Given the description of an element on the screen output the (x, y) to click on. 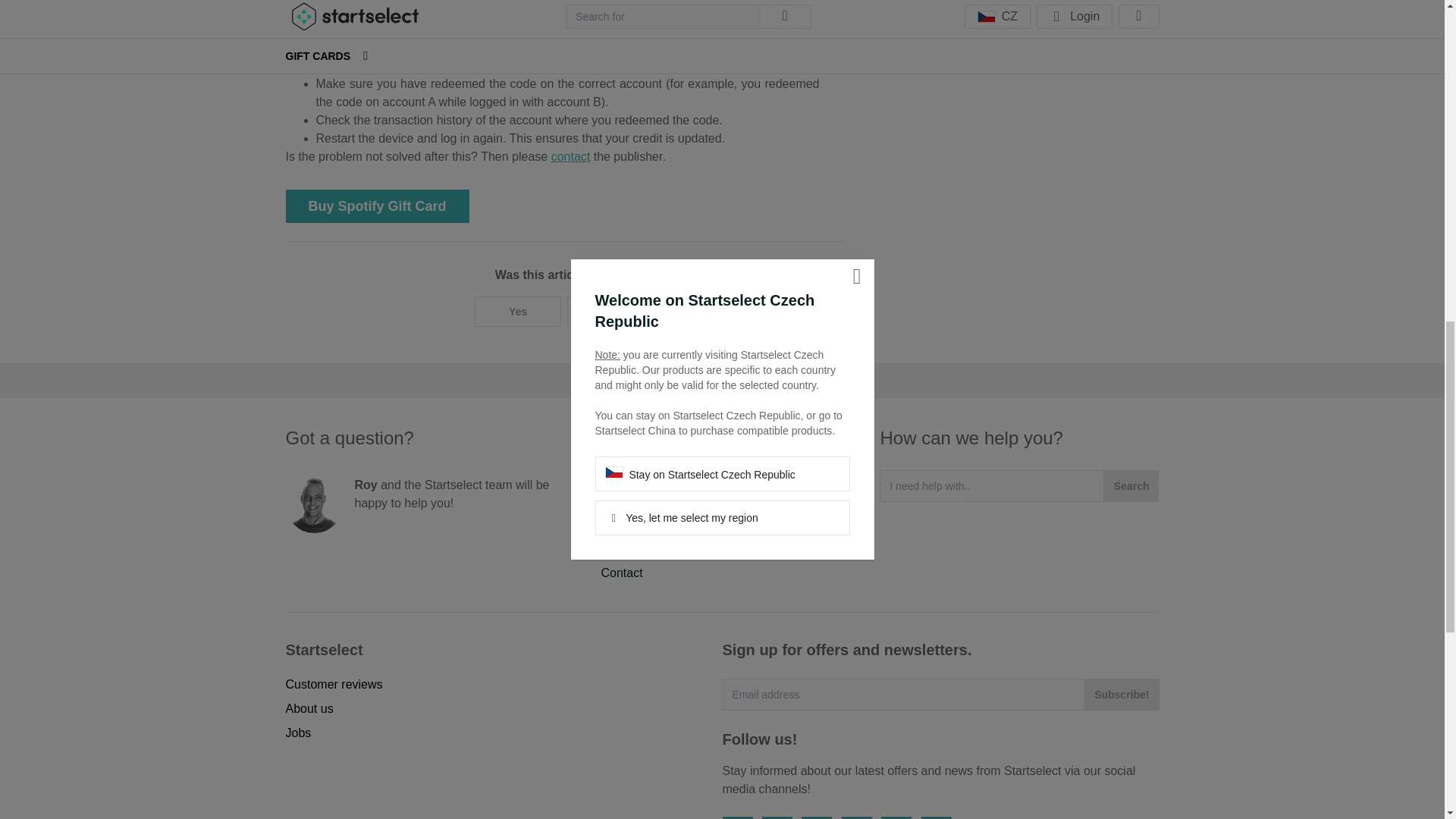
      Buy Spotify Gift Card       (376, 205)
No (610, 311)
Yes (518, 311)
Help with codes (642, 499)
contact (571, 155)
When do I receive my order? (677, 475)
